Given the description of an element on the screen output the (x, y) to click on. 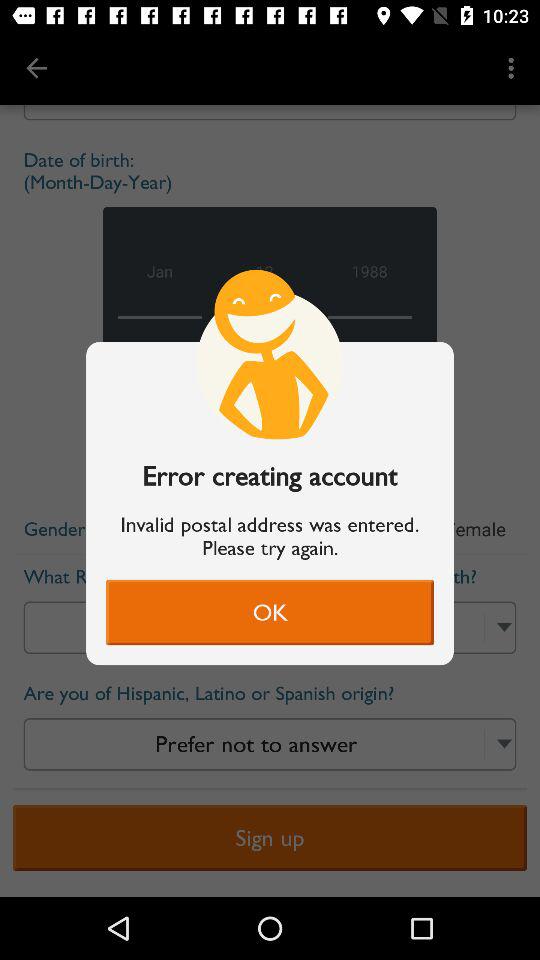
turn off the icon below invalid postal address icon (269, 612)
